Given the description of an element on the screen output the (x, y) to click on. 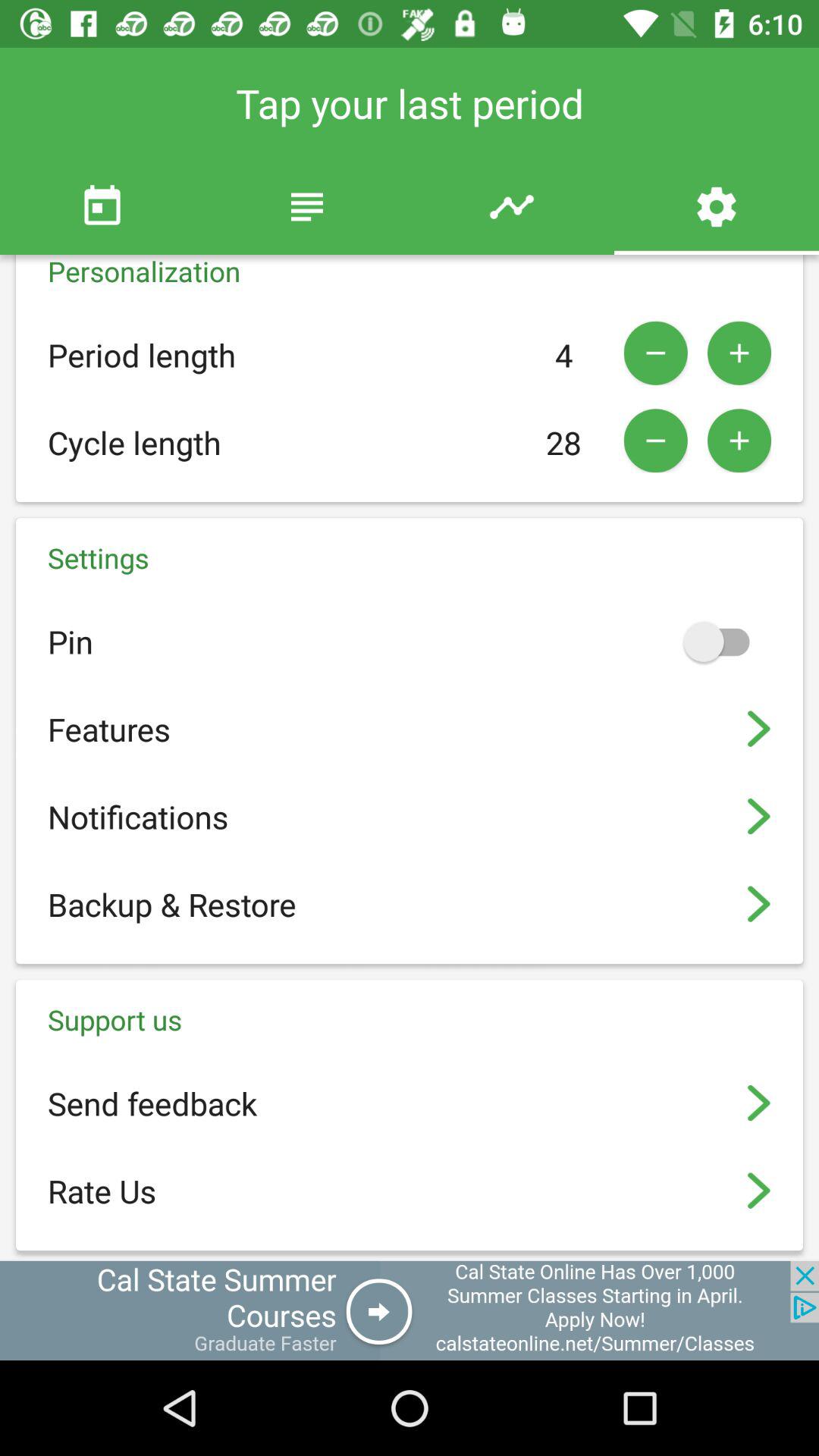
toggle on (723, 641)
